Given the description of an element on the screen output the (x, y) to click on. 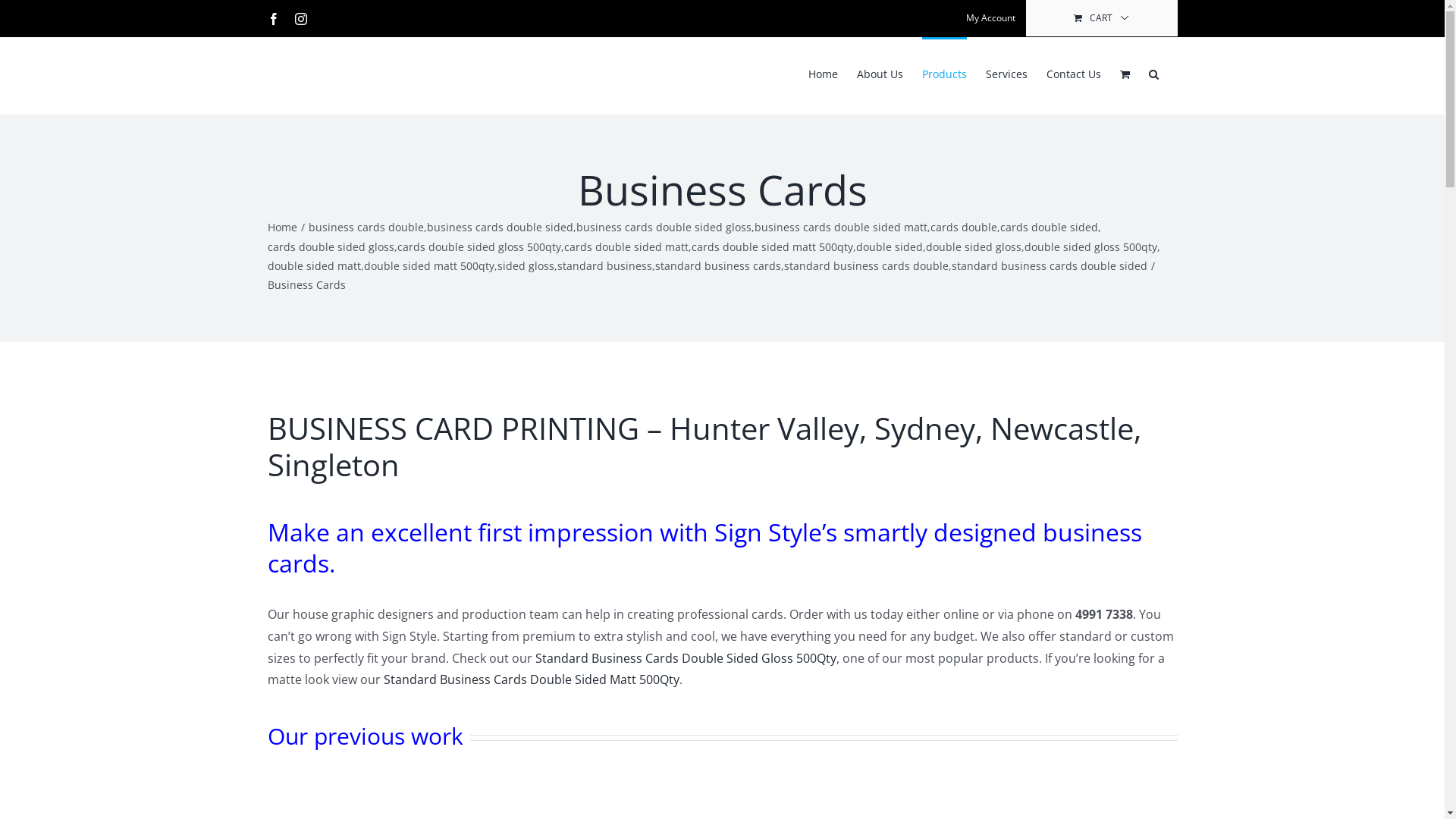
standard business cards Element type: text (718, 265)
CART Element type: text (1100, 18)
Log In Element type: text (1063, 179)
cards double Element type: text (962, 226)
My Account Element type: text (989, 18)
Standard Business Cards Double Sided Gloss 500Qty Element type: text (685, 657)
double sided matt 500qty Element type: text (429, 265)
standard business Element type: text (603, 265)
Instagram Element type: text (300, 18)
double sided matt Element type: text (313, 265)
Home Element type: text (822, 72)
cards double sided gloss Element type: text (329, 246)
standard business cards double Element type: text (866, 265)
Products Element type: text (944, 72)
Home Element type: text (281, 226)
Services Element type: text (1006, 72)
business cards double sided gloss Element type: text (663, 226)
Standard Business Cards Double Sided Matt 500Qty Element type: text (531, 679)
cards double sided matt 500qty Element type: text (772, 246)
Facebook Element type: text (272, 18)
double sided gloss 500qty Element type: text (1089, 246)
cards double sided gloss 500qty Element type: text (479, 246)
double sided gloss Element type: text (972, 246)
business cards double Element type: text (365, 226)
standard business cards double sided Element type: text (1048, 265)
Search Element type: hover (1152, 72)
Contact Us Element type: text (1073, 72)
cards double sided Element type: text (1048, 226)
business cards double sided Element type: text (499, 226)
cards double sided matt Element type: text (626, 246)
double sided Element type: text (888, 246)
About Us Element type: text (879, 72)
business cards double sided matt Element type: text (839, 226)
sided gloss Element type: text (525, 265)
